Given the description of an element on the screen output the (x, y) to click on. 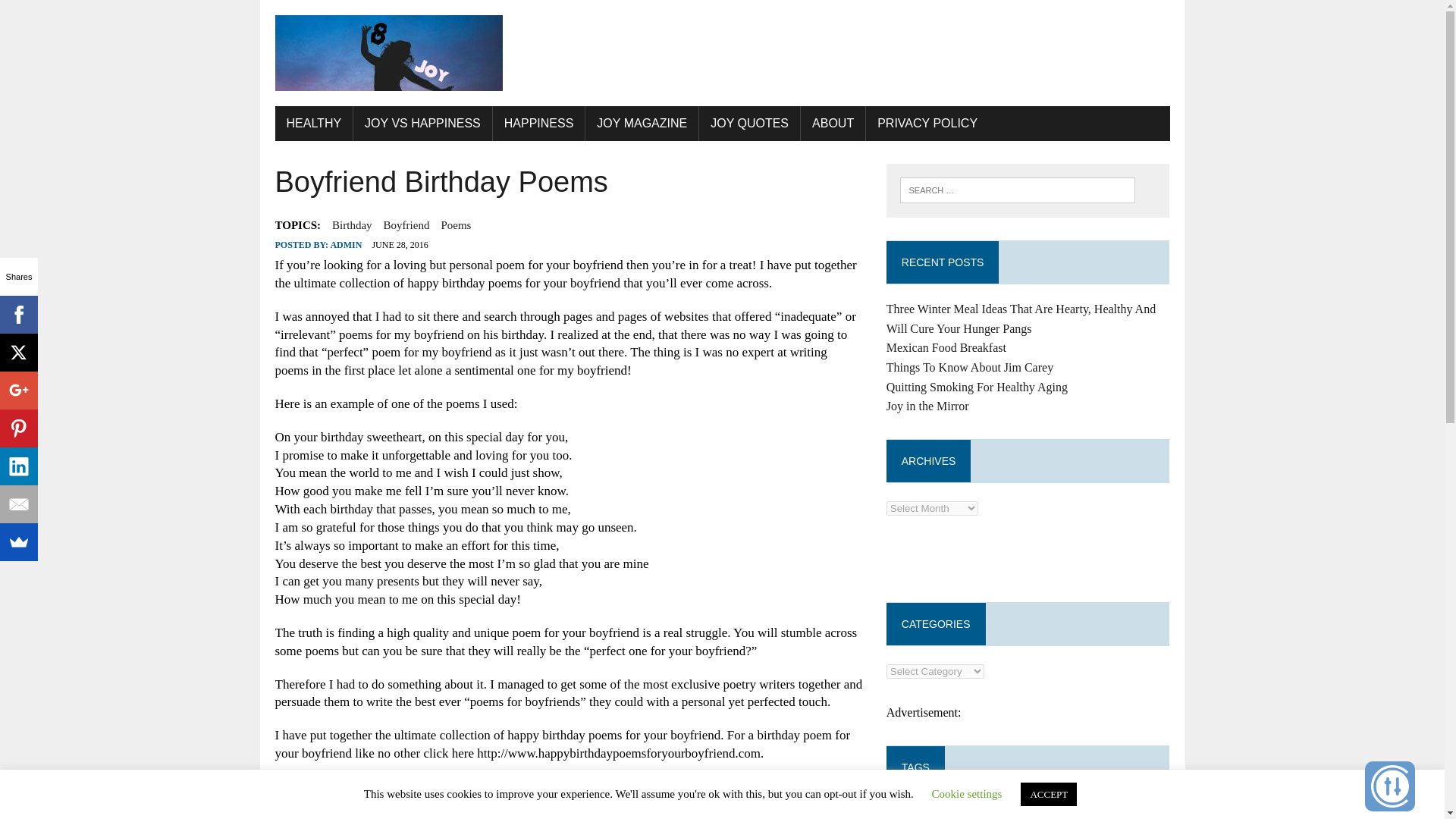
ABOUT (832, 123)
Joy in the Mirror (927, 405)
Pinterest (18, 428)
about (903, 814)
articles (948, 814)
ADMIN (345, 244)
Quitting Smoking For Healthy Aging (976, 386)
HAPPINESS (539, 123)
Boyfriend (406, 225)
Bible (1102, 816)
Birthday (351, 225)
PRIVACY POLICY (927, 123)
Email (18, 504)
Between (1054, 814)
